Given the description of an element on the screen output the (x, y) to click on. 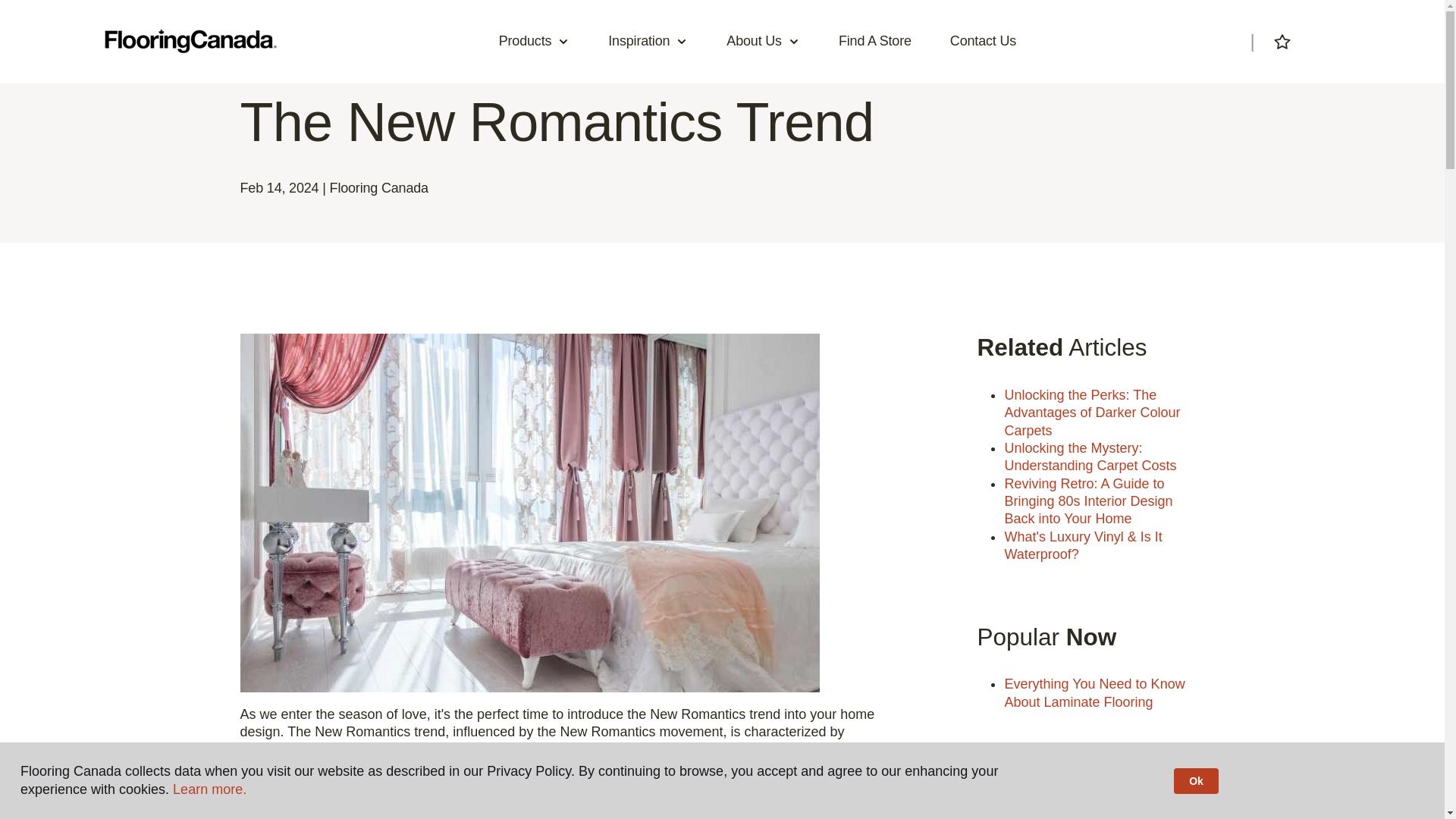
Products (534, 41)
About Us (762, 41)
Inspiration (647, 41)
Find A Store (874, 41)
Contact Us (983, 41)
